Given the description of an element on the screen output the (x, y) to click on. 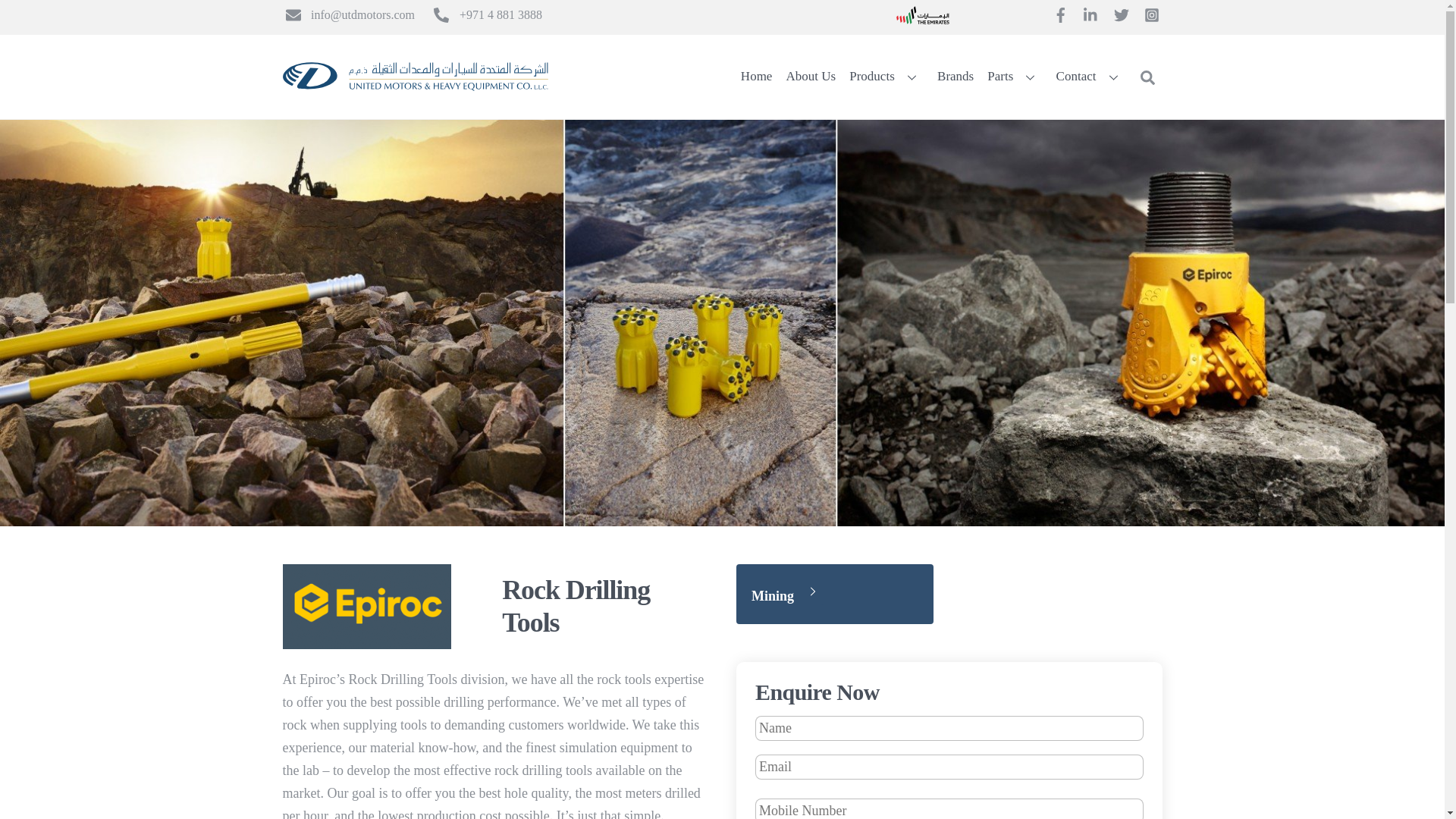
Mining (834, 594)
Rock Drilling Tools (854, 76)
About Us (922, 14)
Search (810, 76)
Epiroc (1146, 76)
Home (365, 606)
Products (756, 76)
